Given the description of an element on the screen output the (x, y) to click on. 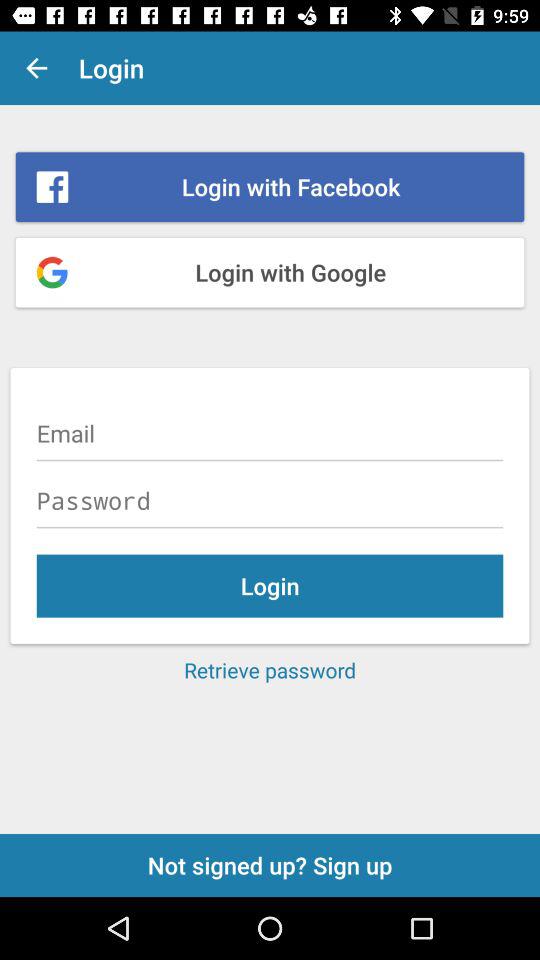
press item to the left of login item (36, 68)
